Given the description of an element on the screen output the (x, y) to click on. 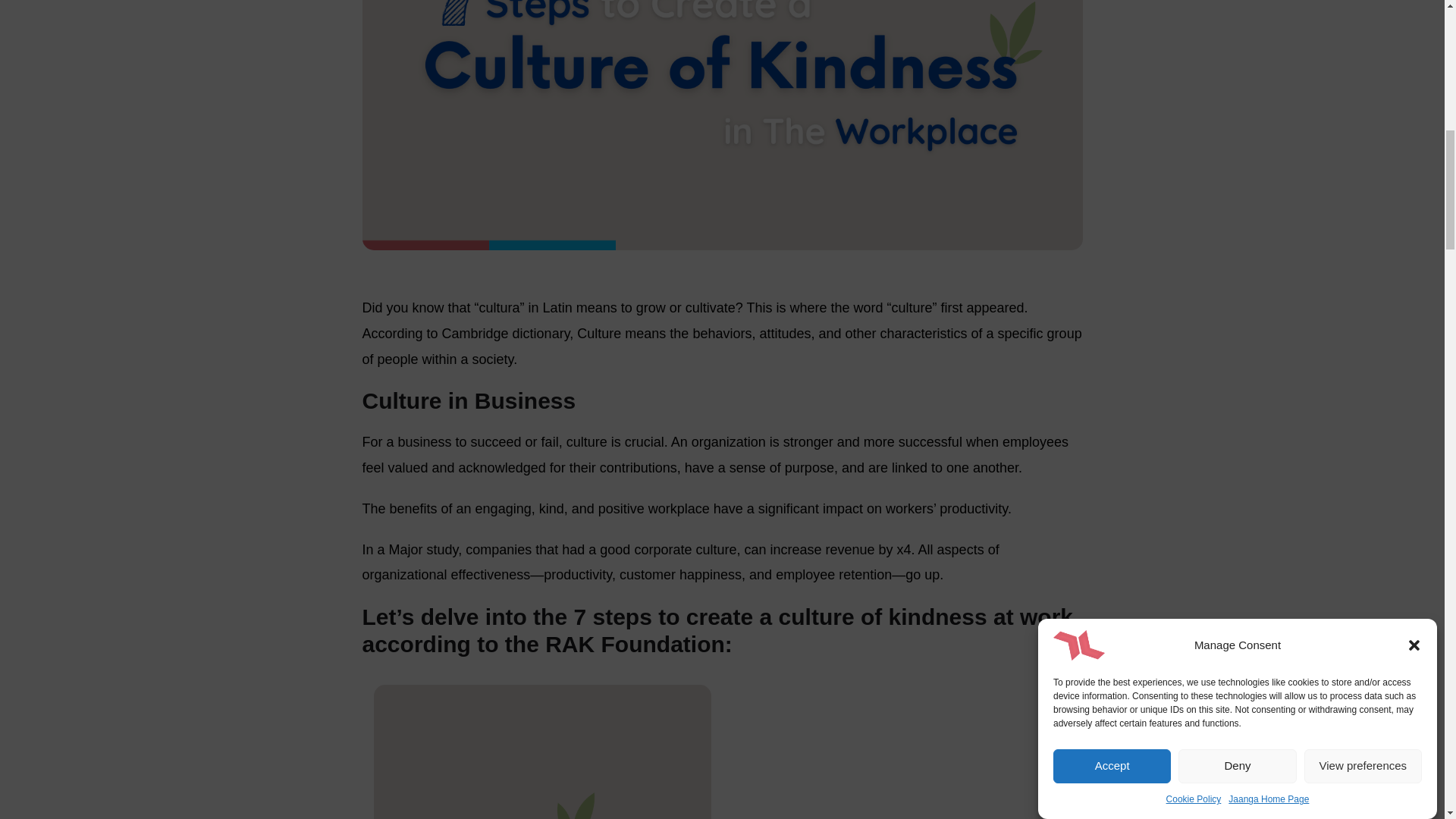
Jaanga Home Page (1268, 91)
Cookie Policy (1193, 109)
Deny (1236, 188)
Accept (1111, 204)
View preferences (1363, 159)
